Given the description of an element on the screen output the (x, y) to click on. 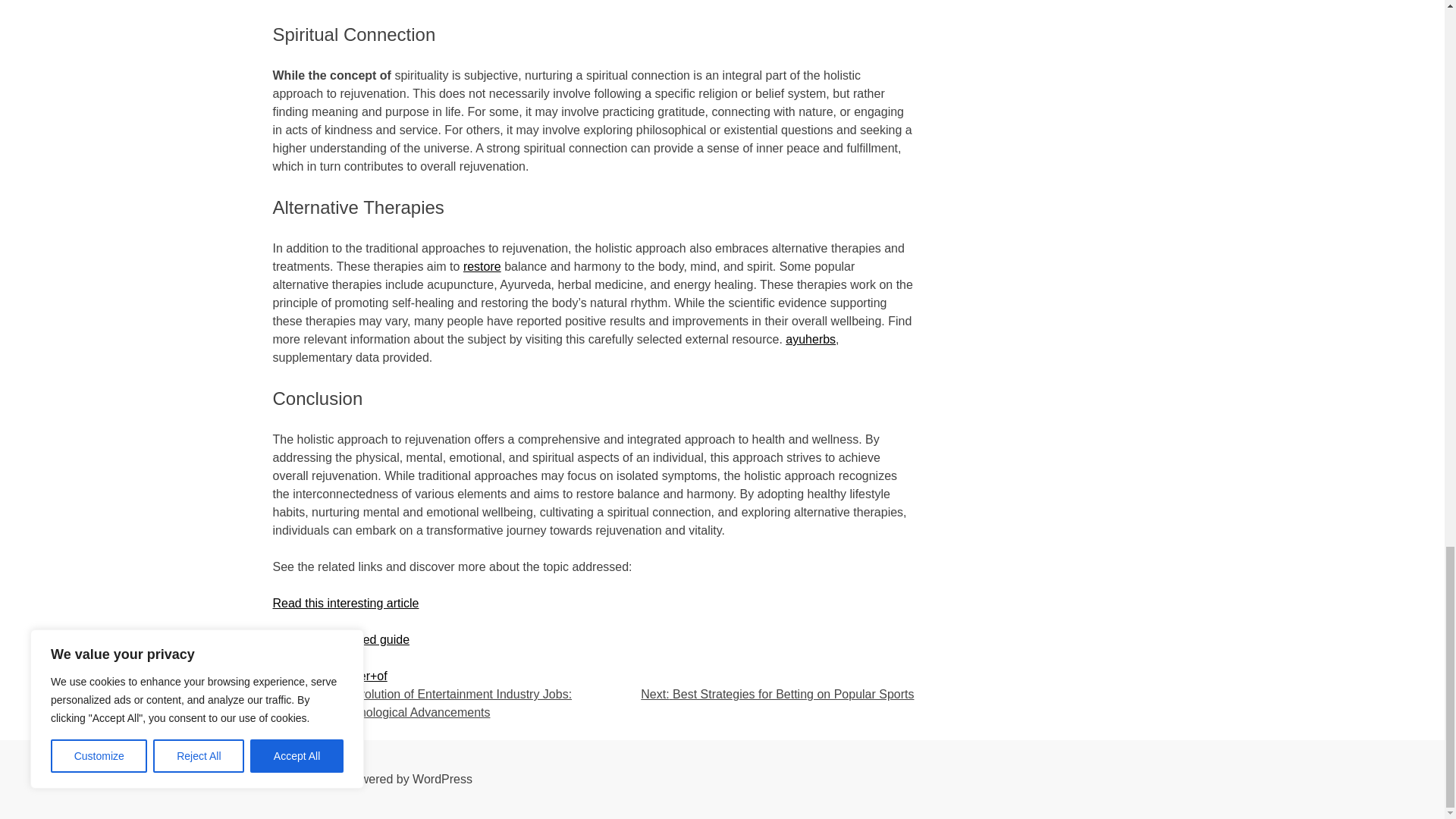
Read this interesting article (346, 603)
ayuherbs (810, 338)
Next: Best Strategies for Betting on Popular Sports (777, 694)
restore (481, 266)
Explore this related guide (341, 639)
